Given the description of an element on the screen output the (x, y) to click on. 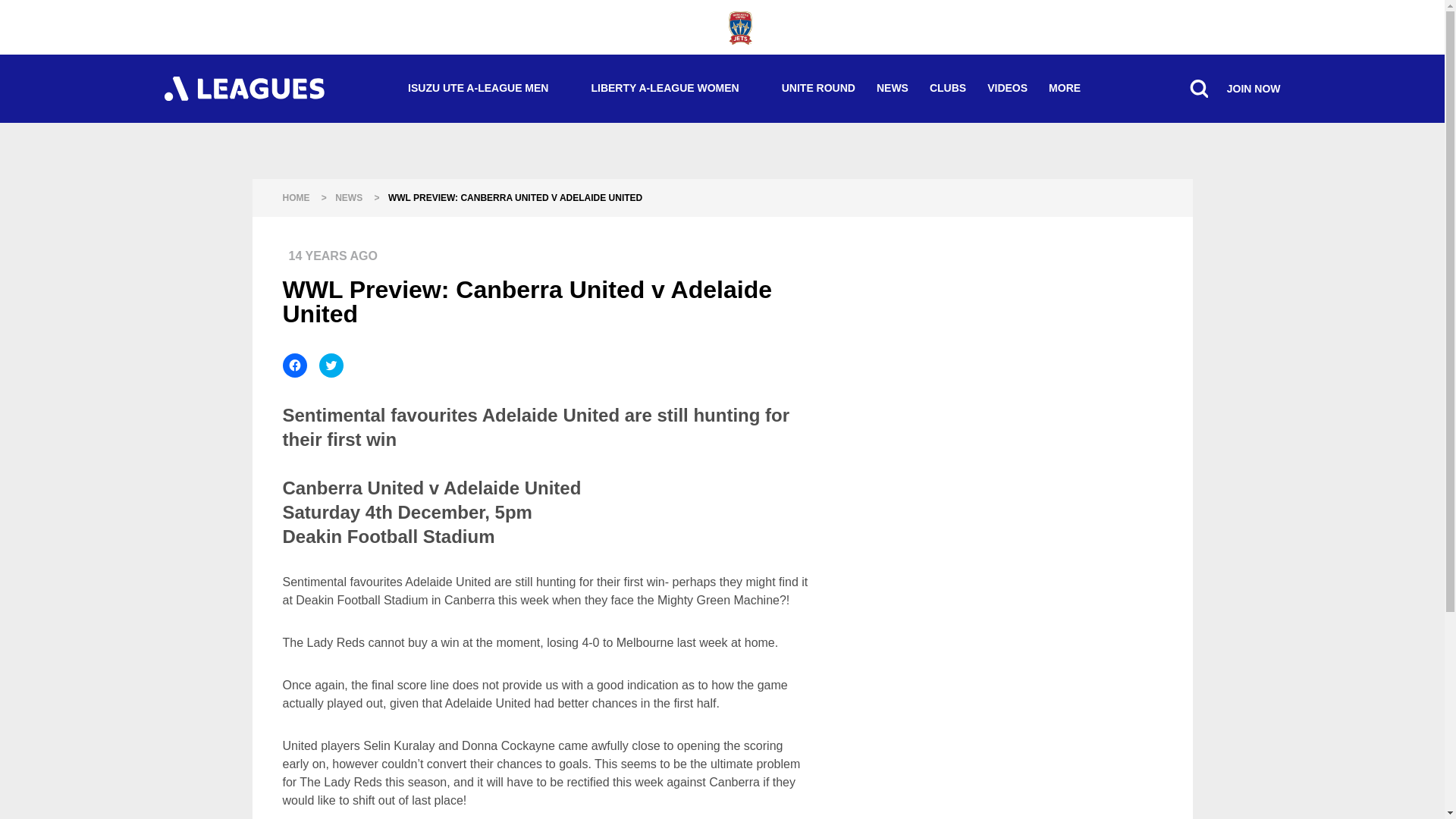
Click to share on Facebook (293, 364)
Click to share on Twitter (330, 364)
LIBERTY A-LEAGUE WOMEN (674, 87)
ISUZU UTE A-LEAGUE MEN (488, 87)
